Given the description of an element on the screen output the (x, y) to click on. 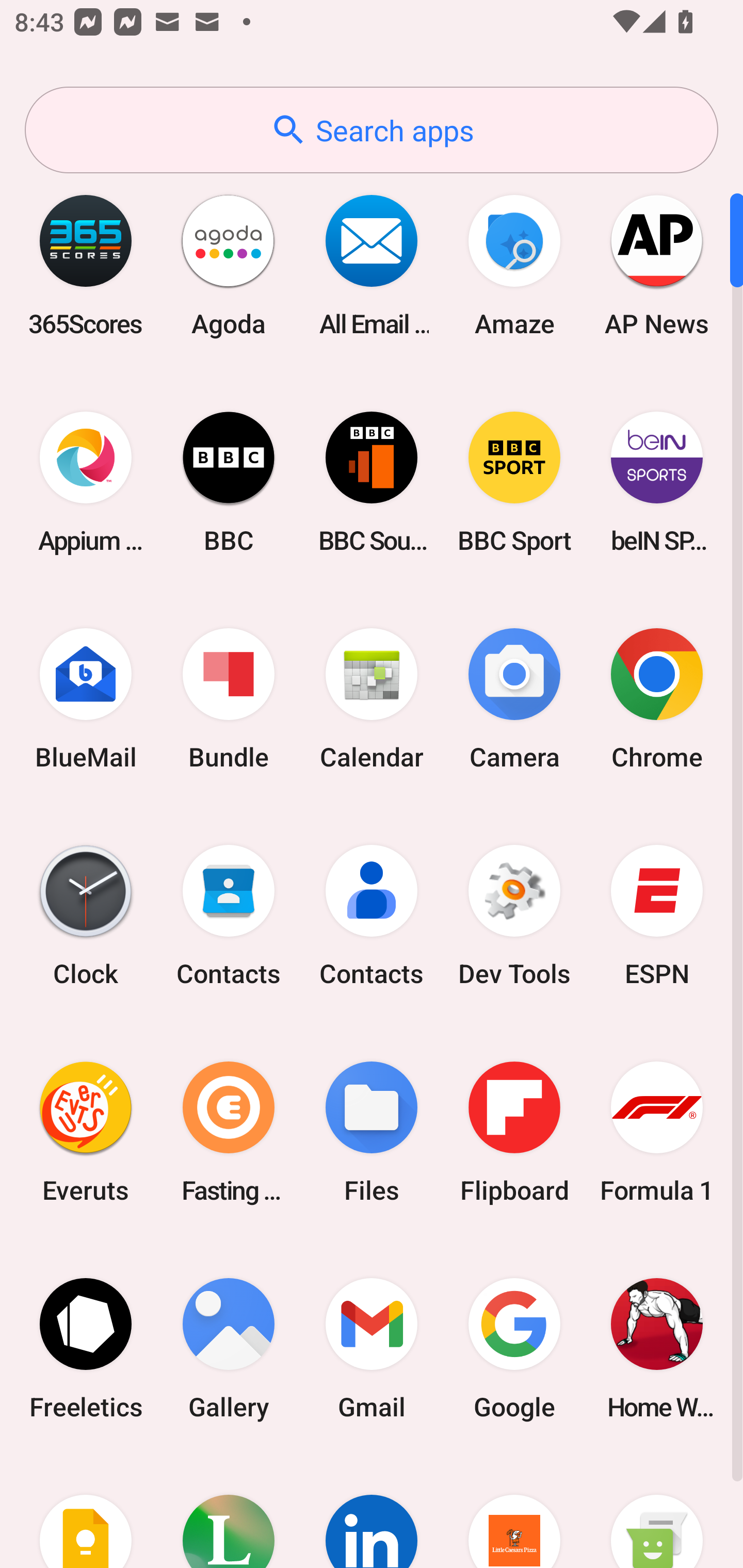
  Search apps (371, 130)
365Scores (85, 264)
Agoda (228, 264)
All Email Connect (371, 264)
Amaze (514, 264)
AP News (656, 264)
Appium Settings (85, 482)
BBC (228, 482)
BBC Sounds (371, 482)
BBC Sport (514, 482)
beIN SPORTS (656, 482)
BlueMail (85, 699)
Bundle (228, 699)
Calendar (371, 699)
Camera (514, 699)
Chrome (656, 699)
Clock (85, 915)
Contacts (228, 915)
Contacts (371, 915)
Dev Tools (514, 915)
ESPN (656, 915)
Everuts (85, 1131)
Fasting Coach (228, 1131)
Files (371, 1131)
Flipboard (514, 1131)
Formula 1 (656, 1131)
Freeletics (85, 1348)
Gallery (228, 1348)
Gmail (371, 1348)
Google (514, 1348)
Home Workout (656, 1348)
Keep Notes (85, 1512)
Lifesum (228, 1512)
LinkedIn (371, 1512)
Little Caesars Pizza (514, 1512)
Messaging (656, 1512)
